Given the description of an element on the screen output the (x, y) to click on. 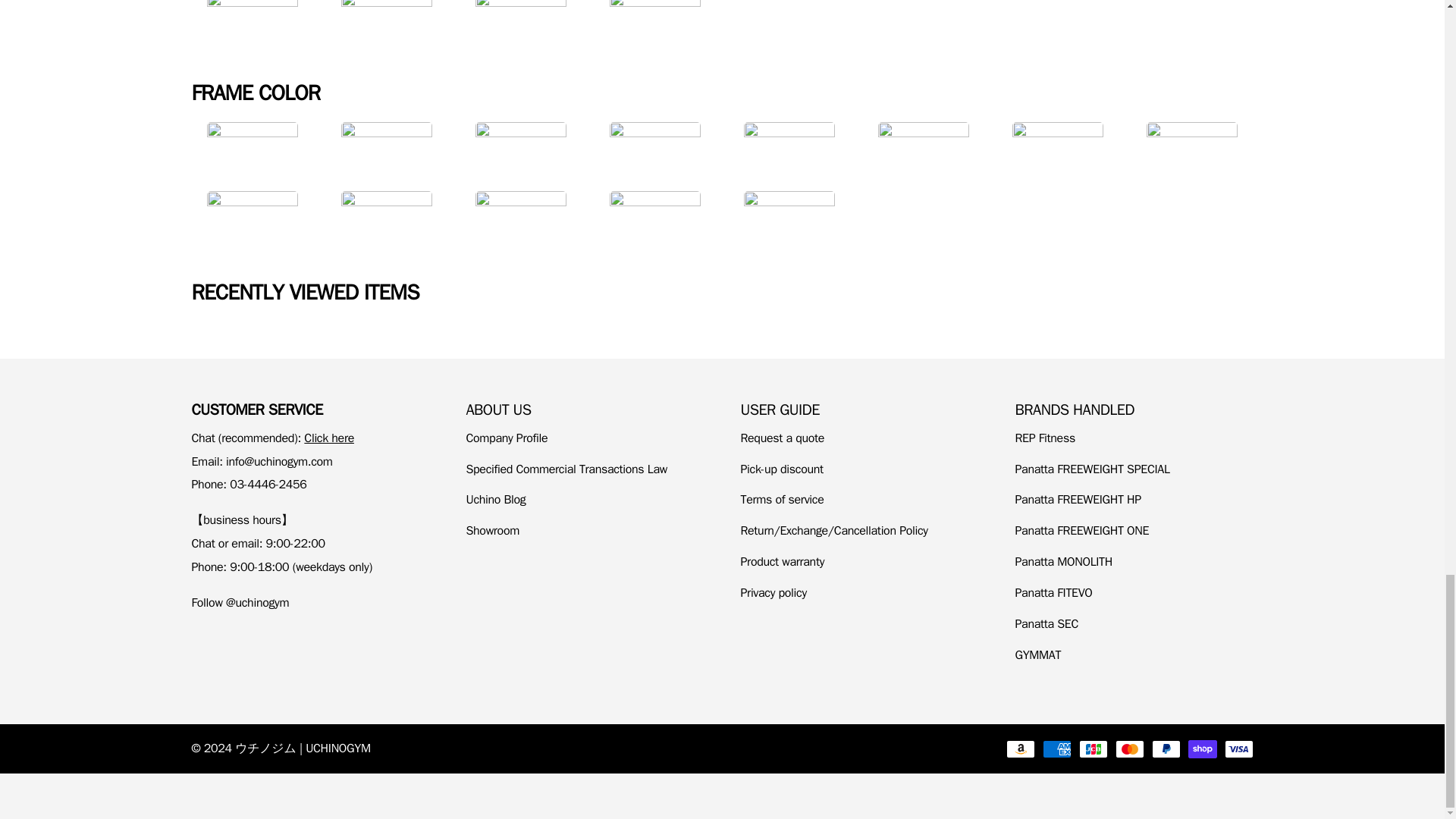
Privacy policy (772, 592)
Amazon (1019, 749)
American Express (1056, 749)
Panatta FREEWEIGHT SPECIAL (1091, 468)
Request a quote (781, 437)
Product warranty (781, 561)
Panatta MONOLITH (1063, 561)
JCB (1092, 749)
PayPal (1165, 749)
Panatta FITEVO (1053, 592)
